Given the description of an element on the screen output the (x, y) to click on. 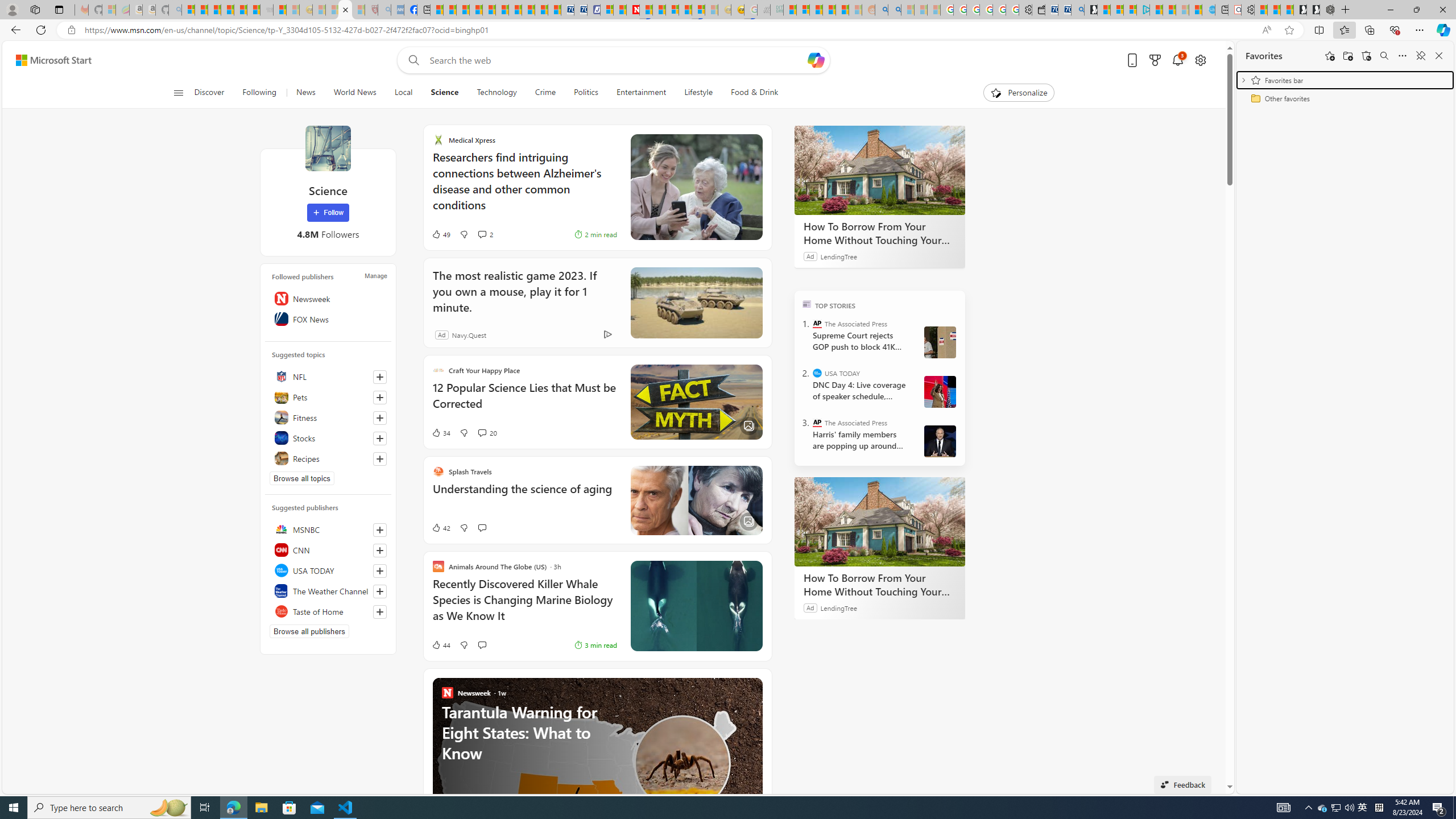
World - MSN (462, 9)
NCL Adult Asthma Inhaler Choice Guideline - Sleeping (397, 9)
Trusted Community Engagement and Contributions | Guidelines (646, 9)
Student Loan Update: Forgiveness Program Ends This Month (842, 9)
